Given the description of an element on the screen output the (x, y) to click on. 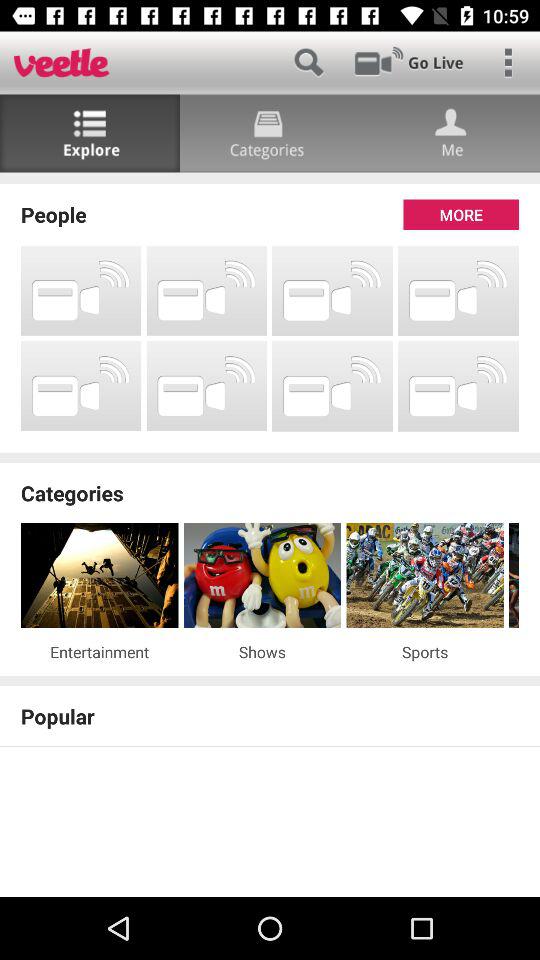
turn off the categories icon (270, 492)
